Given the description of an element on the screen output the (x, y) to click on. 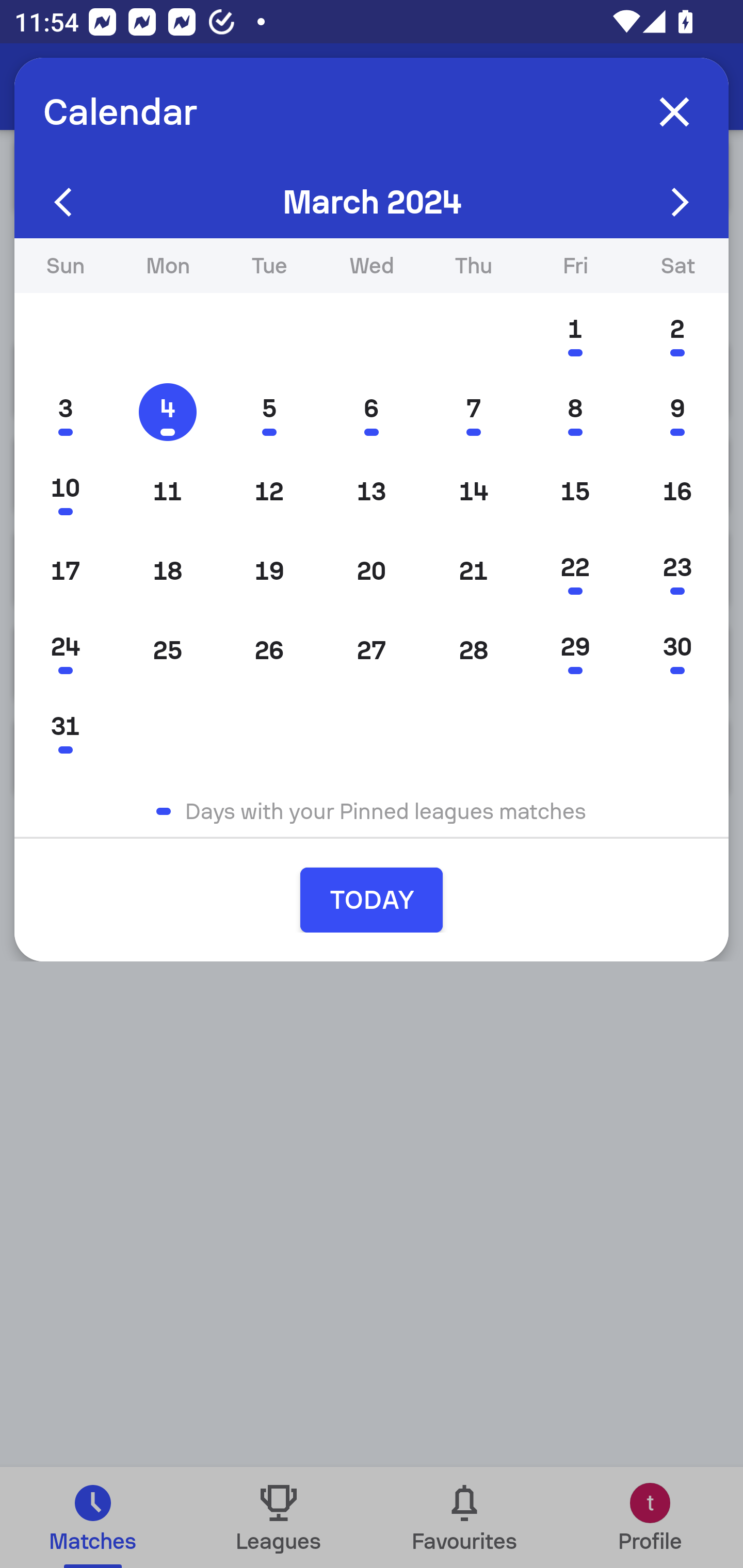
Handball (124, 86)
1 (575, 333)
2 (677, 333)
3 (65, 412)
4 (167, 412)
5 (269, 412)
6 (371, 412)
7 (473, 412)
8 (575, 412)
9 (677, 412)
10 (65, 491)
11 (167, 491)
12 (269, 491)
13 (371, 491)
14 (473, 491)
15 (575, 491)
16 (677, 491)
17 (65, 570)
18 (167, 570)
19 (269, 570)
20 (371, 570)
21 (473, 570)
22 (575, 570)
23 (677, 570)
24 (65, 649)
25 (167, 649)
26 (269, 649)
27 (371, 649)
28 (473, 649)
29 (575, 649)
30 (677, 649)
31 (65, 729)
TODAY (371, 899)
